Given the description of an element on the screen output the (x, y) to click on. 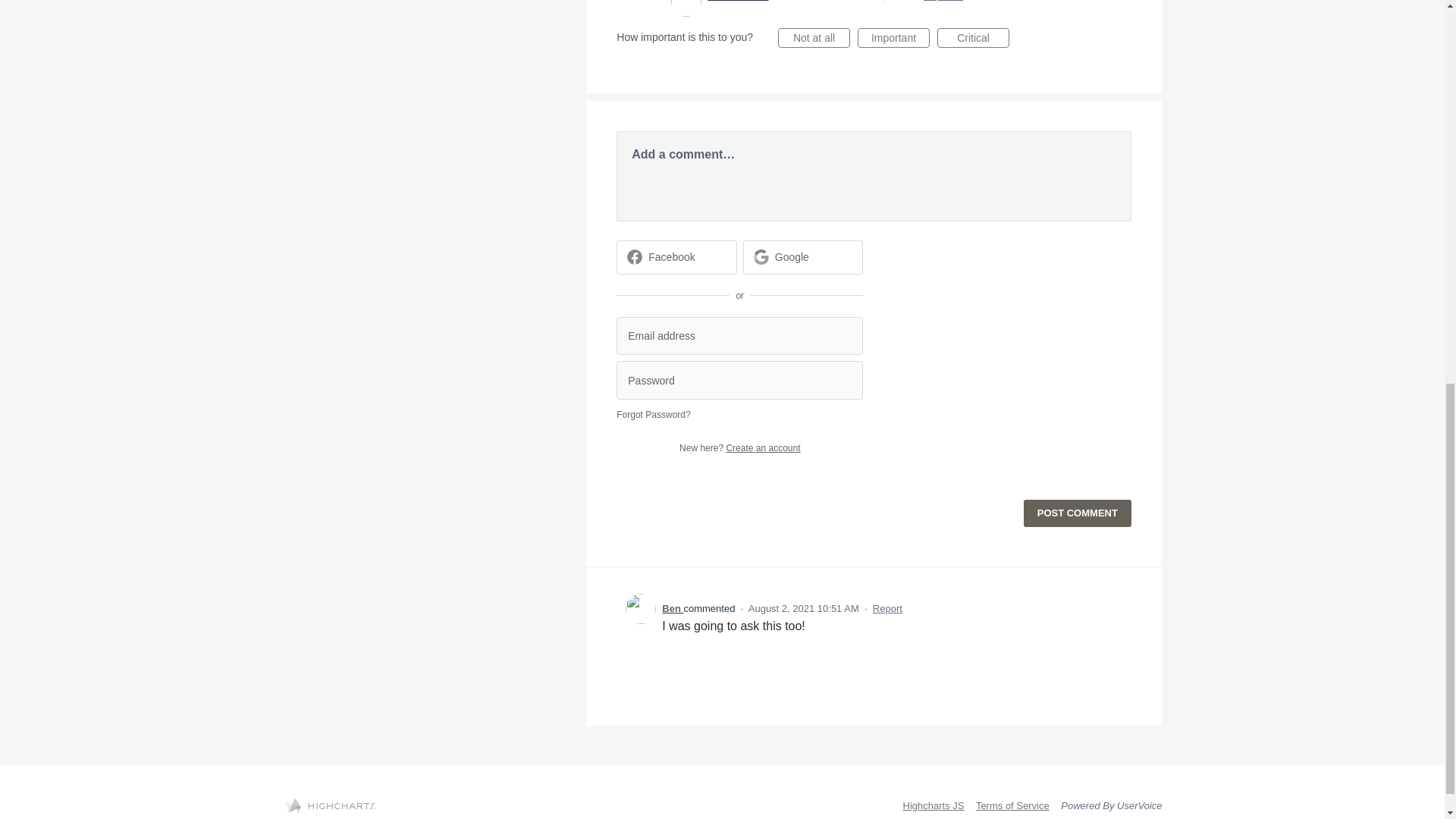
Mike Brewer (737, 0)
